Given the description of an element on the screen output the (x, y) to click on. 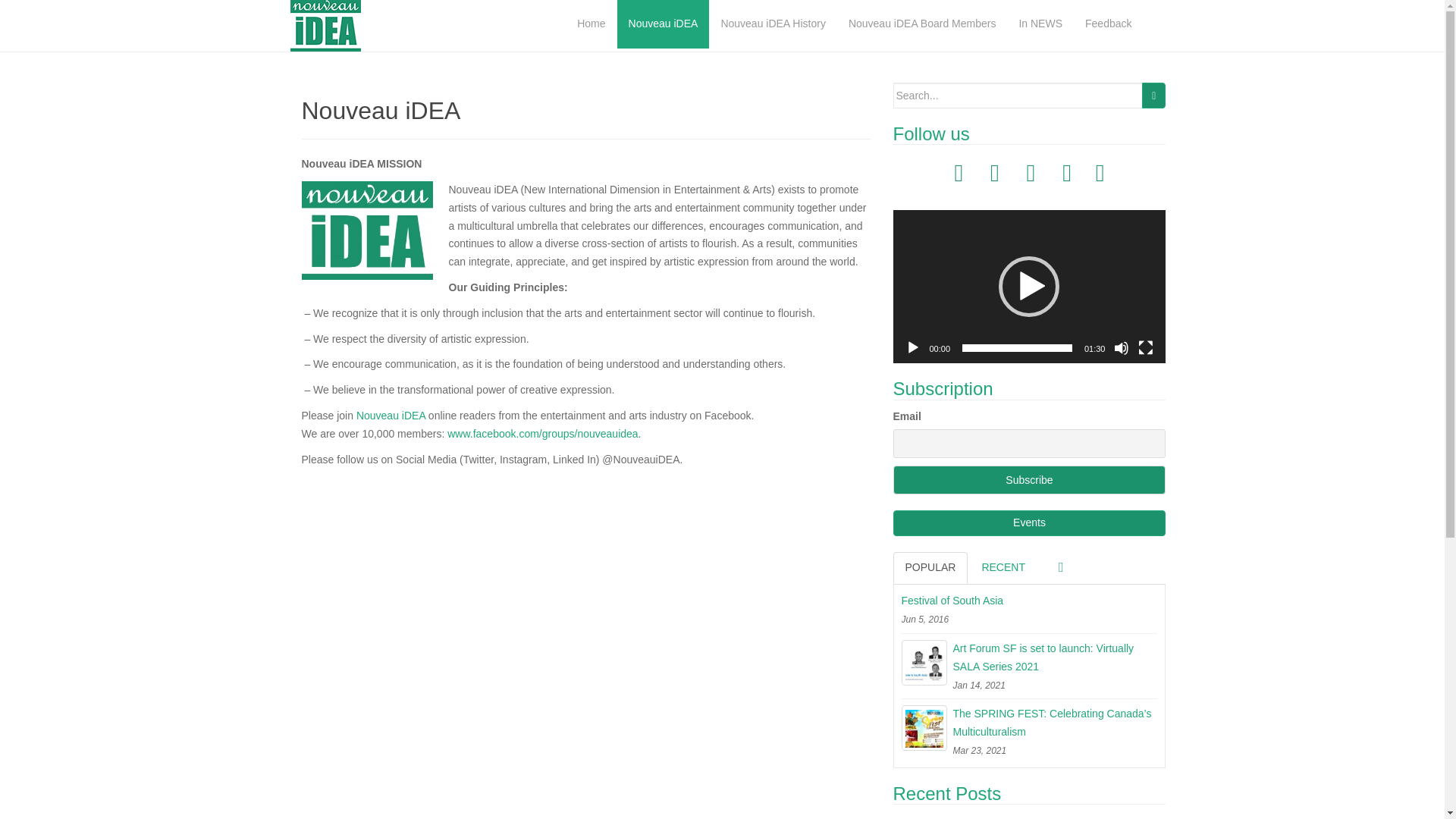
Nouveau iDEA History (773, 24)
Festival of South Asia (1029, 601)
In NEWS (1040, 24)
Fullscreen (1145, 347)
Art Forum SF is set to launch: Virtually SALA Series 2021 (1029, 657)
Nouveau iDEA (390, 415)
Search (1153, 95)
Nouveau iDEA (663, 24)
Art Forum SF is set to launch: Virtually SALA Series 2021 (1029, 657)
Nouveau iDEA (663, 24)
Feedback (1108, 24)
Art Forum SF is set to launch: Virtually SALA Series 2021 (923, 662)
Nouveau iDEA Board Members (922, 24)
Subscribe (1029, 480)
Play (912, 347)
